Given the description of an element on the screen output the (x, y) to click on. 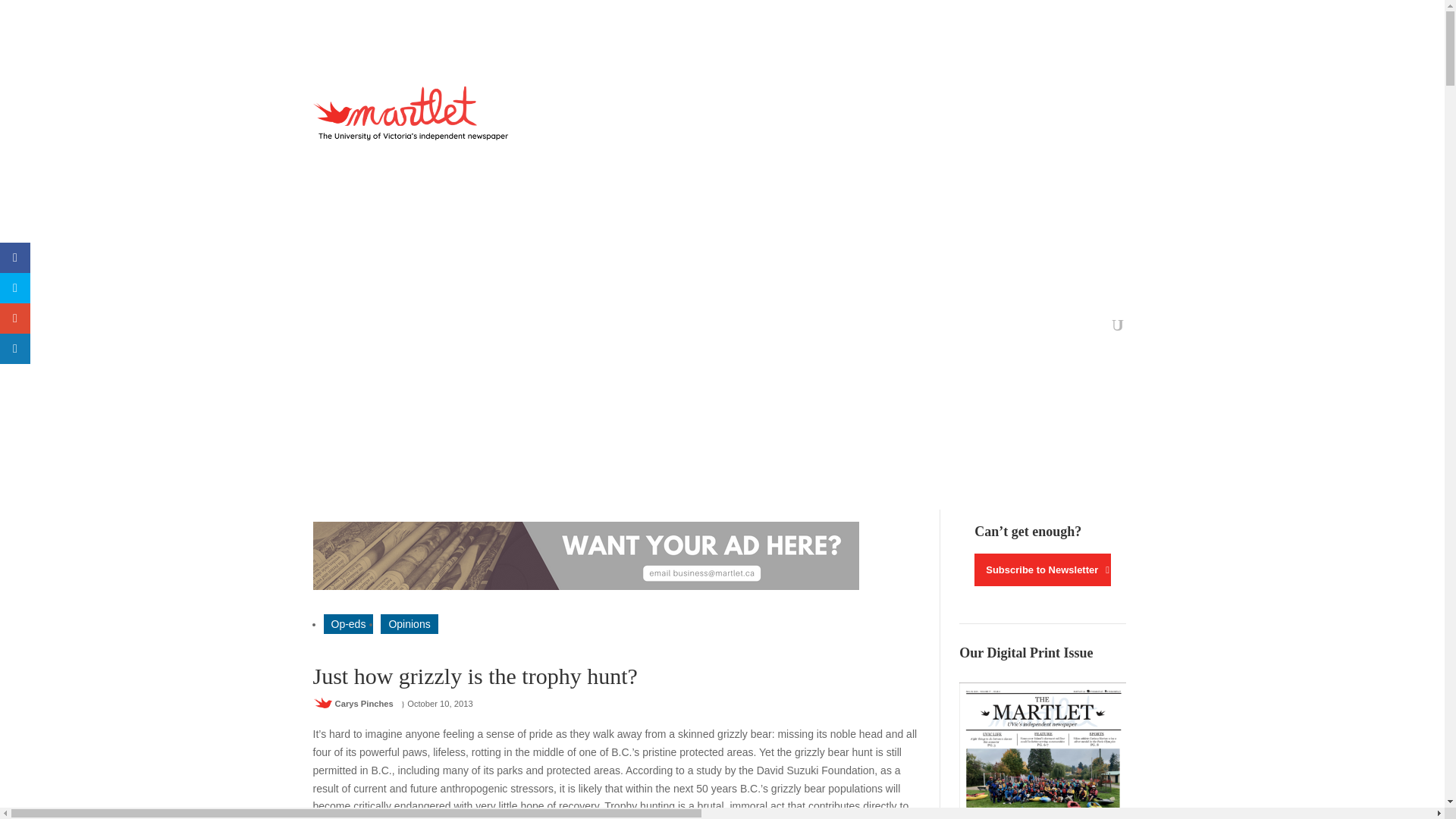
Subscribe to Newsletter (1042, 569)
Culture (489, 328)
Features (435, 328)
Jobs (729, 328)
Humour (637, 328)
Opinions (409, 623)
martlet-logo-2022 (414, 113)
More (776, 328)
Our Digital Print Issue (1042, 750)
About (686, 328)
